Given the description of an element on the screen output the (x, y) to click on. 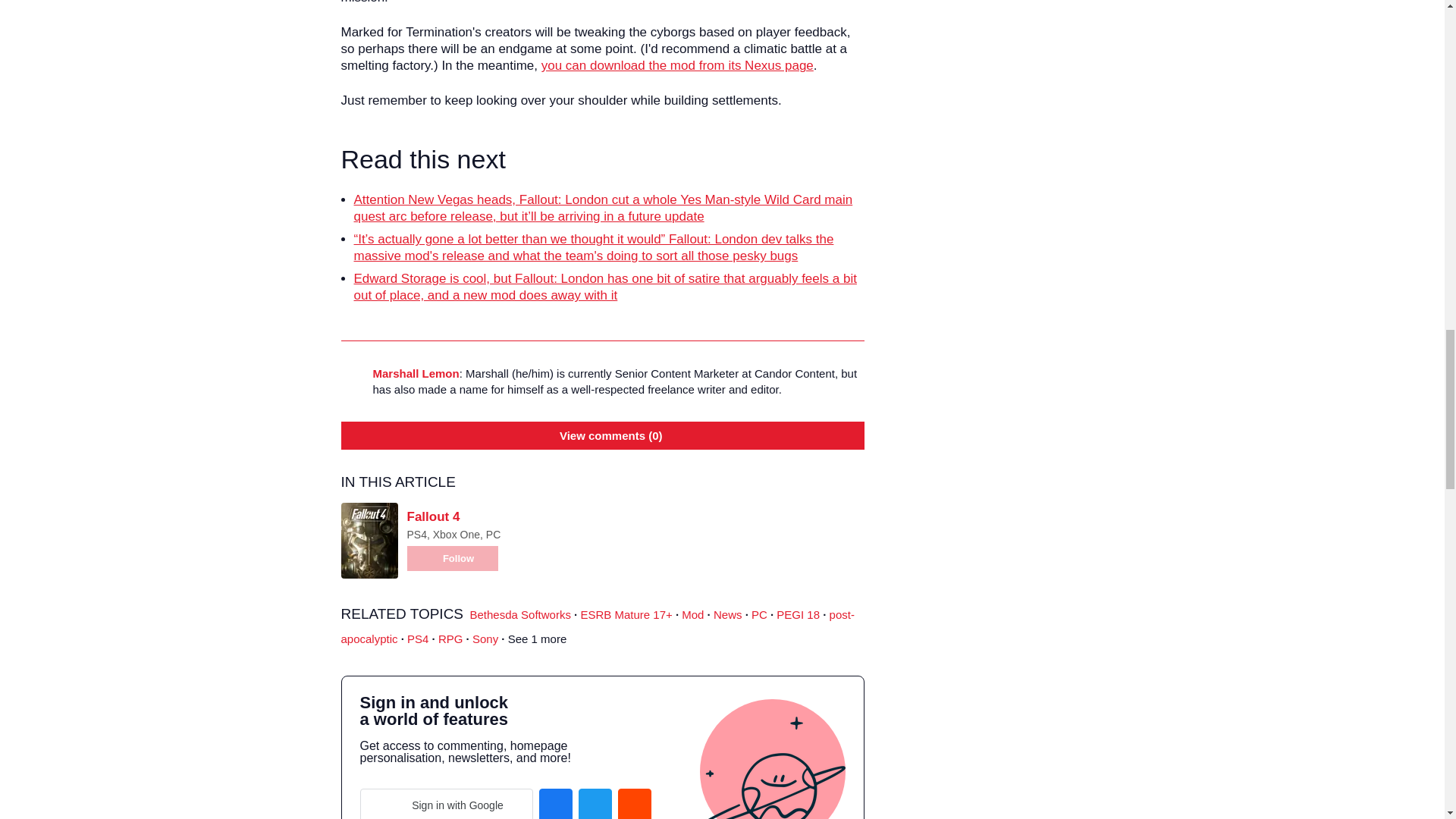
you can download the mod from its Nexus page (677, 65)
Marshall Lemon (416, 373)
Fallout 4 (433, 516)
